Given the description of an element on the screen output the (x, y) to click on. 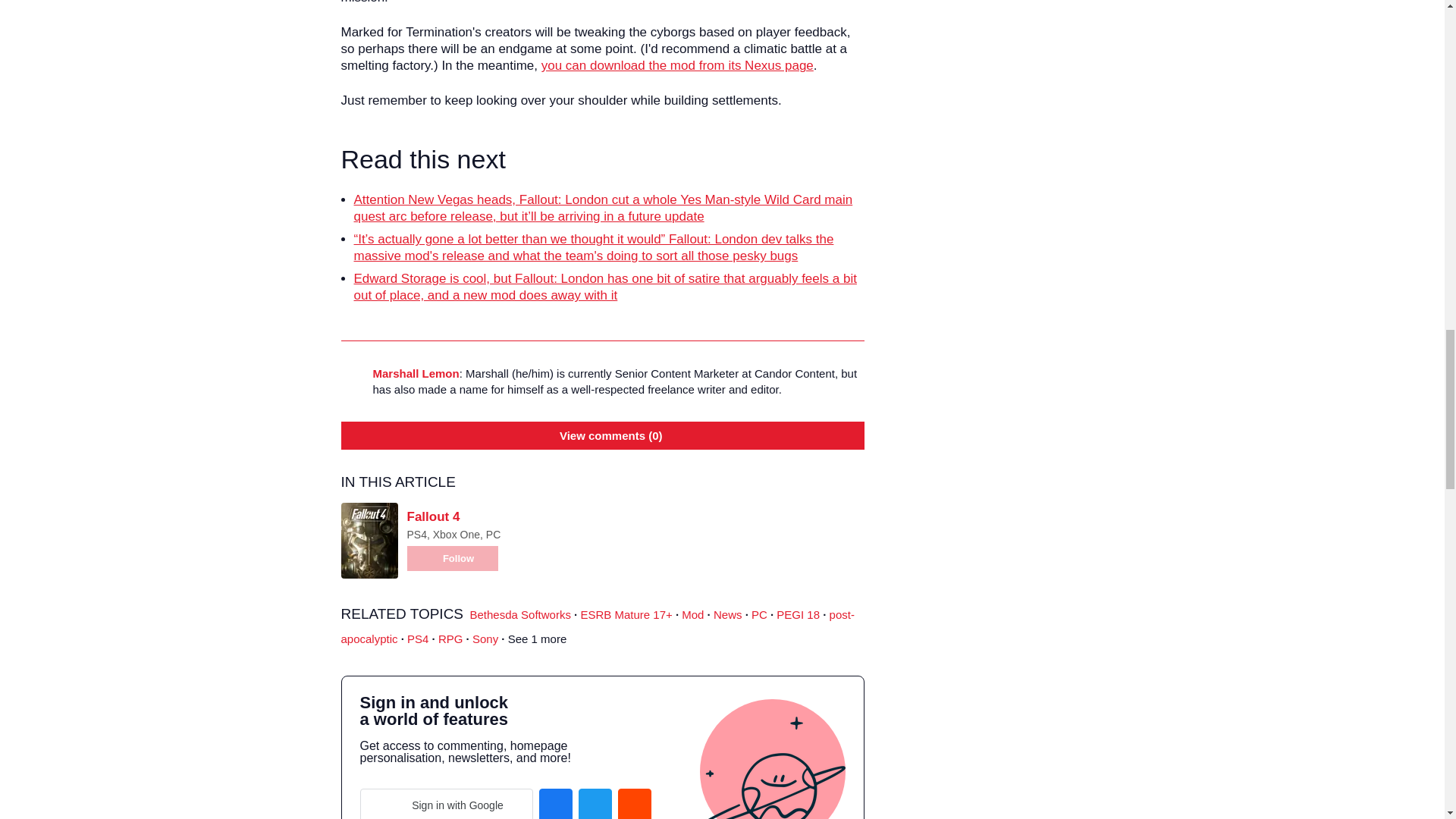
you can download the mod from its Nexus page (677, 65)
Marshall Lemon (416, 373)
Fallout 4 (433, 516)
